Given the description of an element on the screen output the (x, y) to click on. 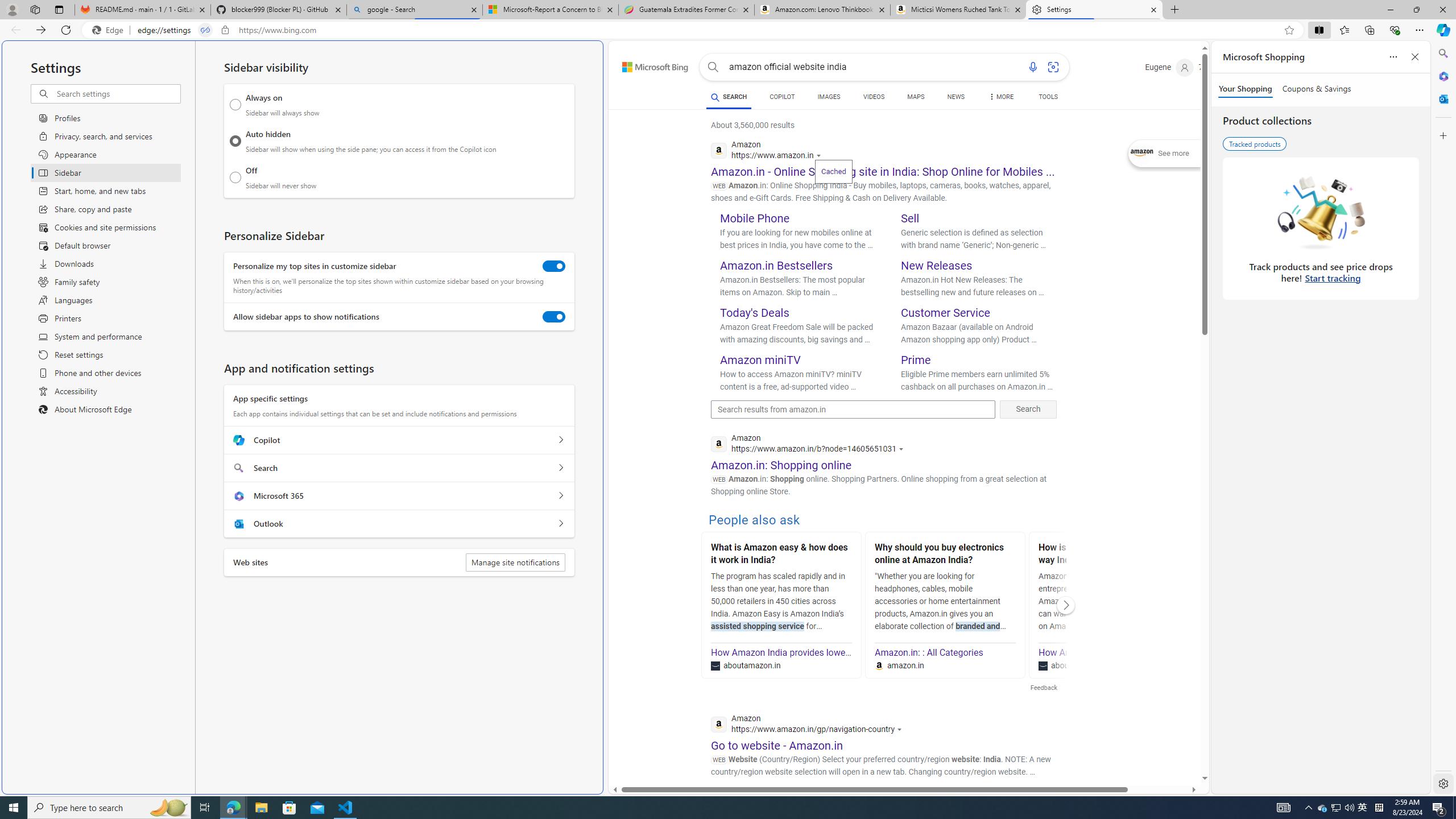
Expand (1142, 153)
AutomationID: mfa_root (1161, 743)
Expand See more (1164, 153)
Why should you buy electronics online at Amazon India? (945, 555)
Amazon.in Bestsellers (776, 265)
TOOLS (1048, 98)
COPILOT (781, 96)
